Given the description of an element on the screen output the (x, y) to click on. 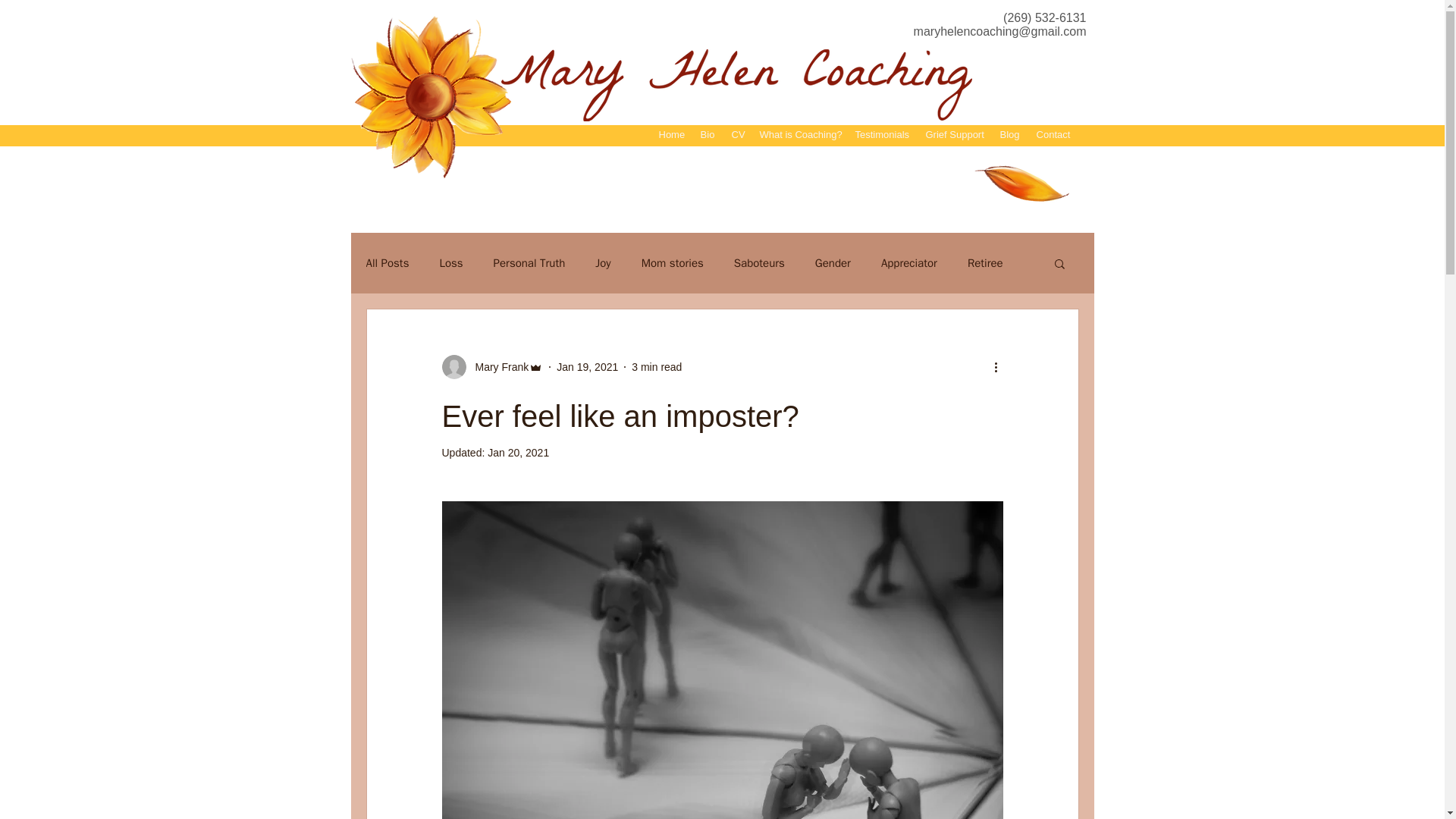
Blog (1009, 134)
Gender (832, 263)
Jan 20, 2021 (517, 452)
Flower.png (432, 94)
Contact (1052, 134)
Retiree (985, 263)
Mary Frank (496, 367)
All Posts (387, 263)
Testimonials (881, 134)
Joy (602, 263)
3 min read (656, 367)
Bio (706, 134)
What is Coaching? (798, 134)
Mom stories (672, 263)
Loss (451, 263)
